Given the description of an element on the screen output the (x, y) to click on. 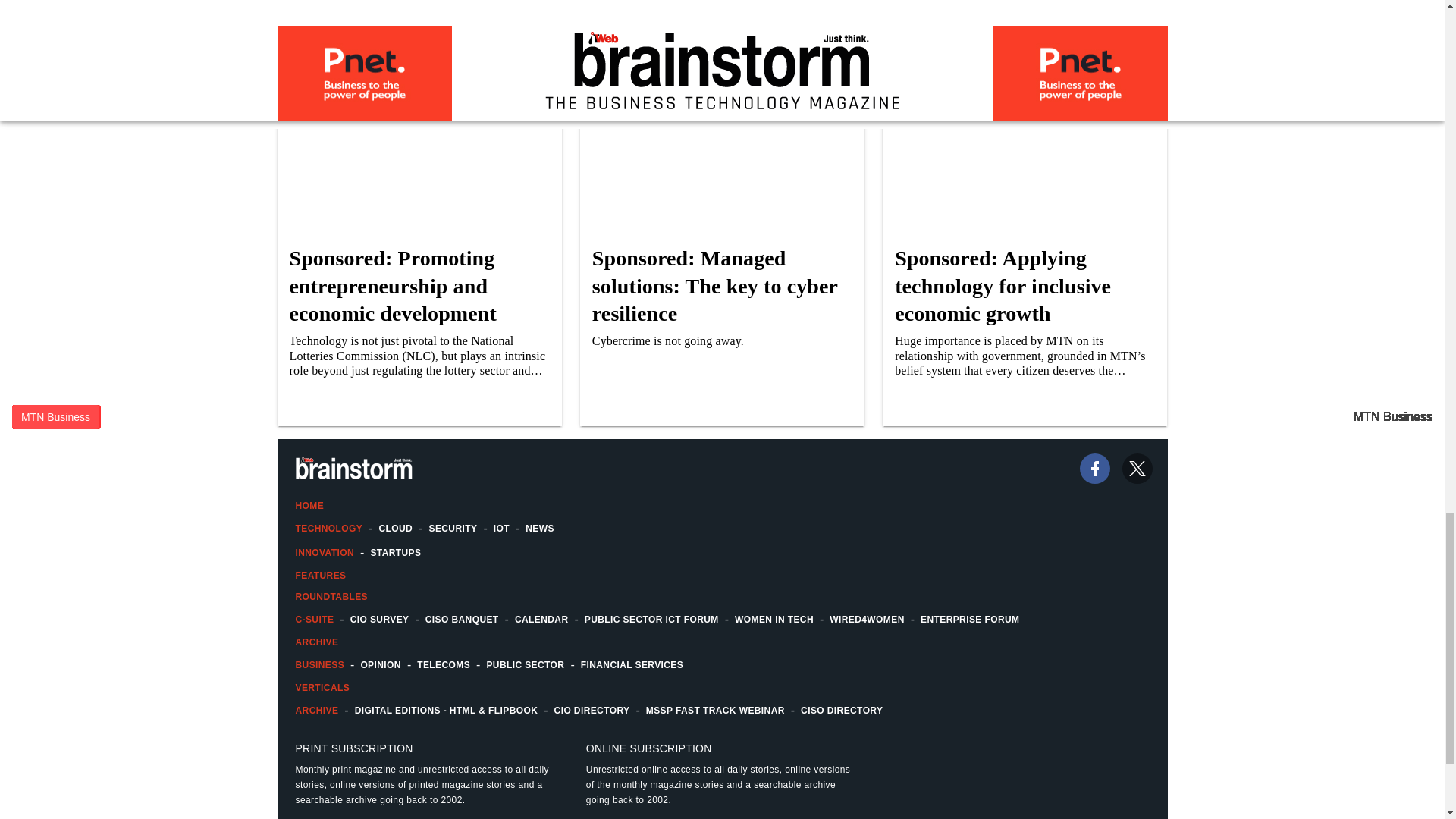
MTN Business (55, 416)
